Given the description of an element on the screen output the (x, y) to click on. 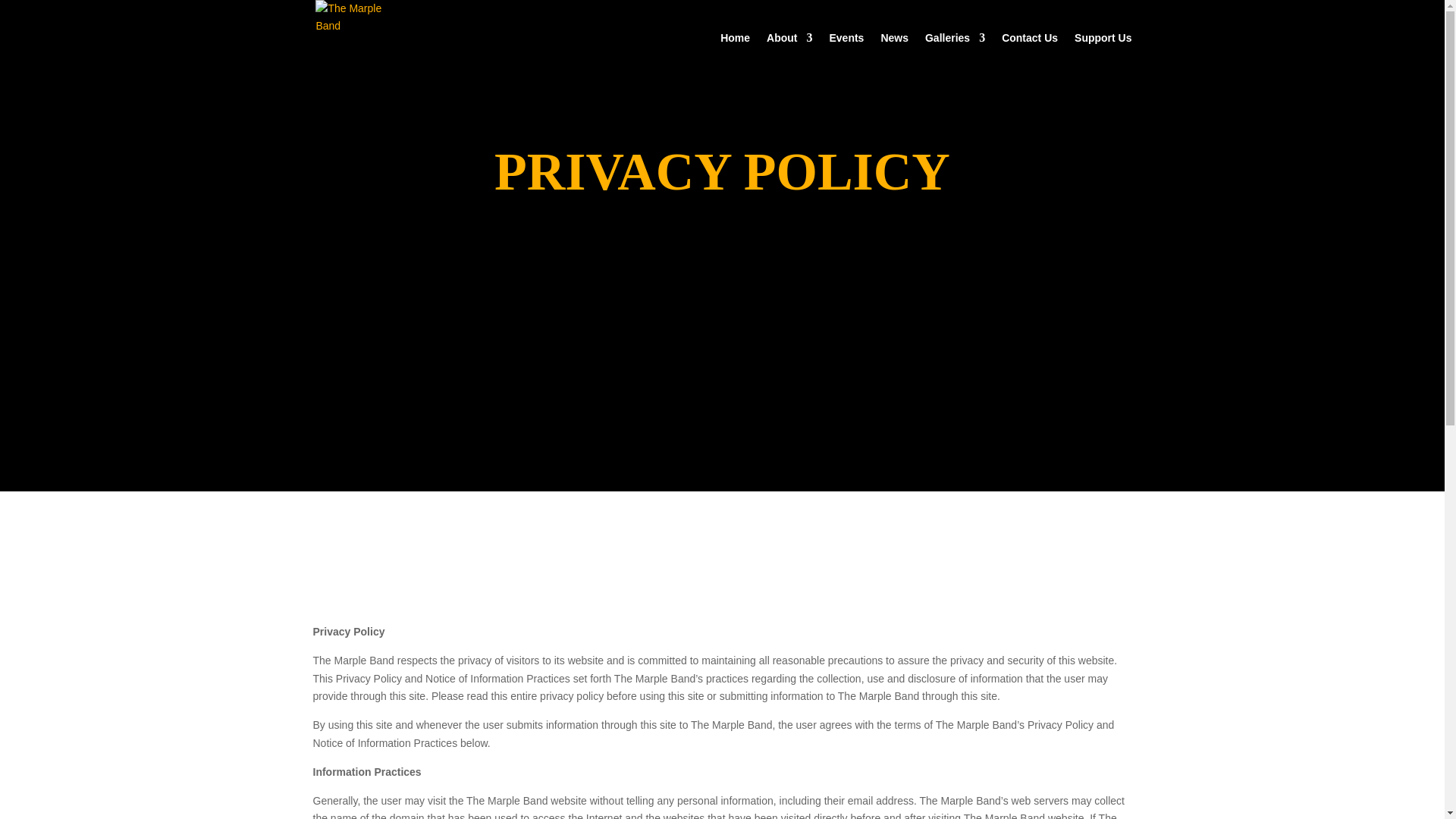
About (789, 54)
Contact Us (1029, 54)
Galleries (954, 54)
Support Us (1102, 54)
